Given the description of an element on the screen output the (x, y) to click on. 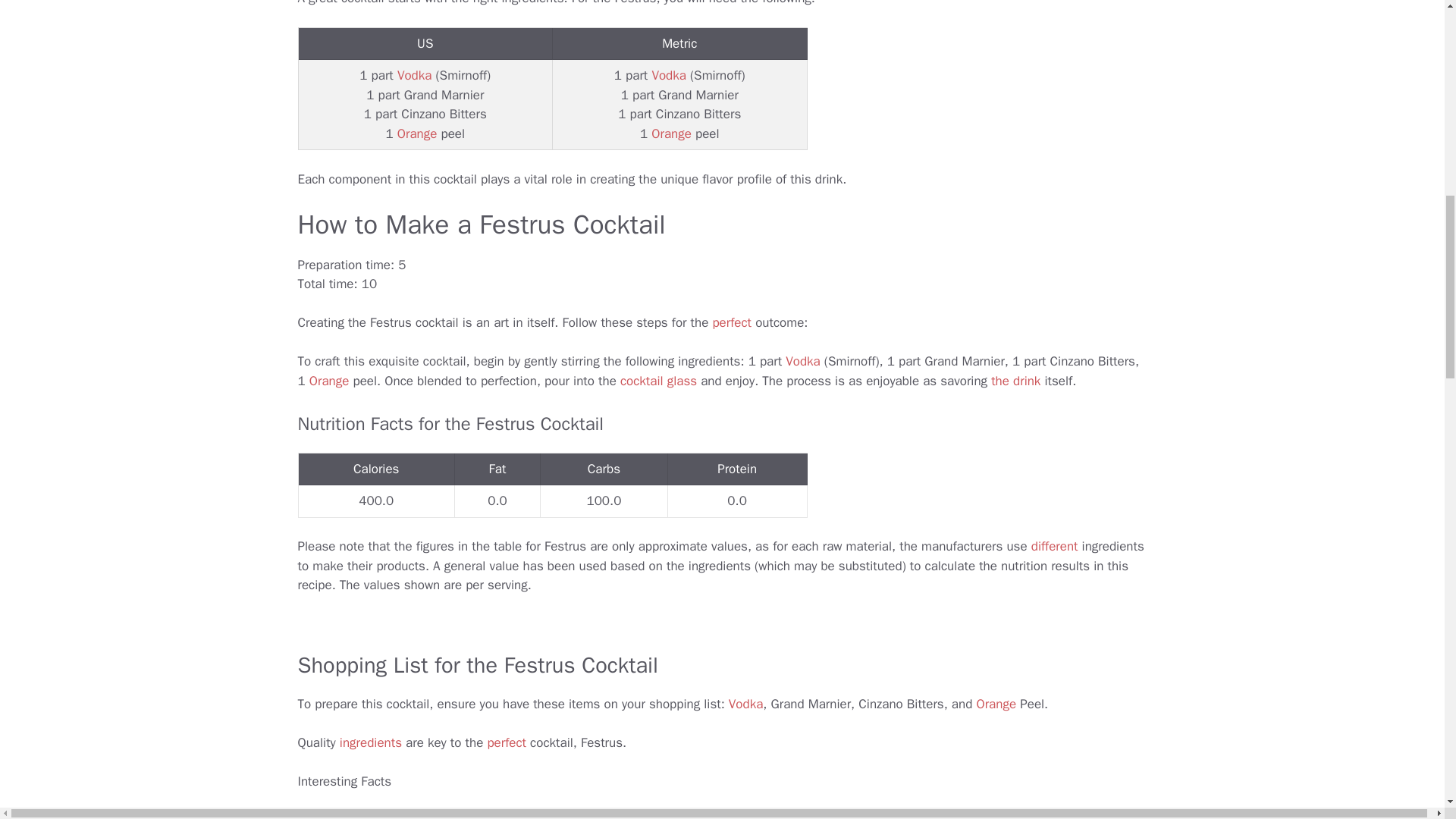
Scroll back to top (1406, 708)
